Given the description of an element on the screen output the (x, y) to click on. 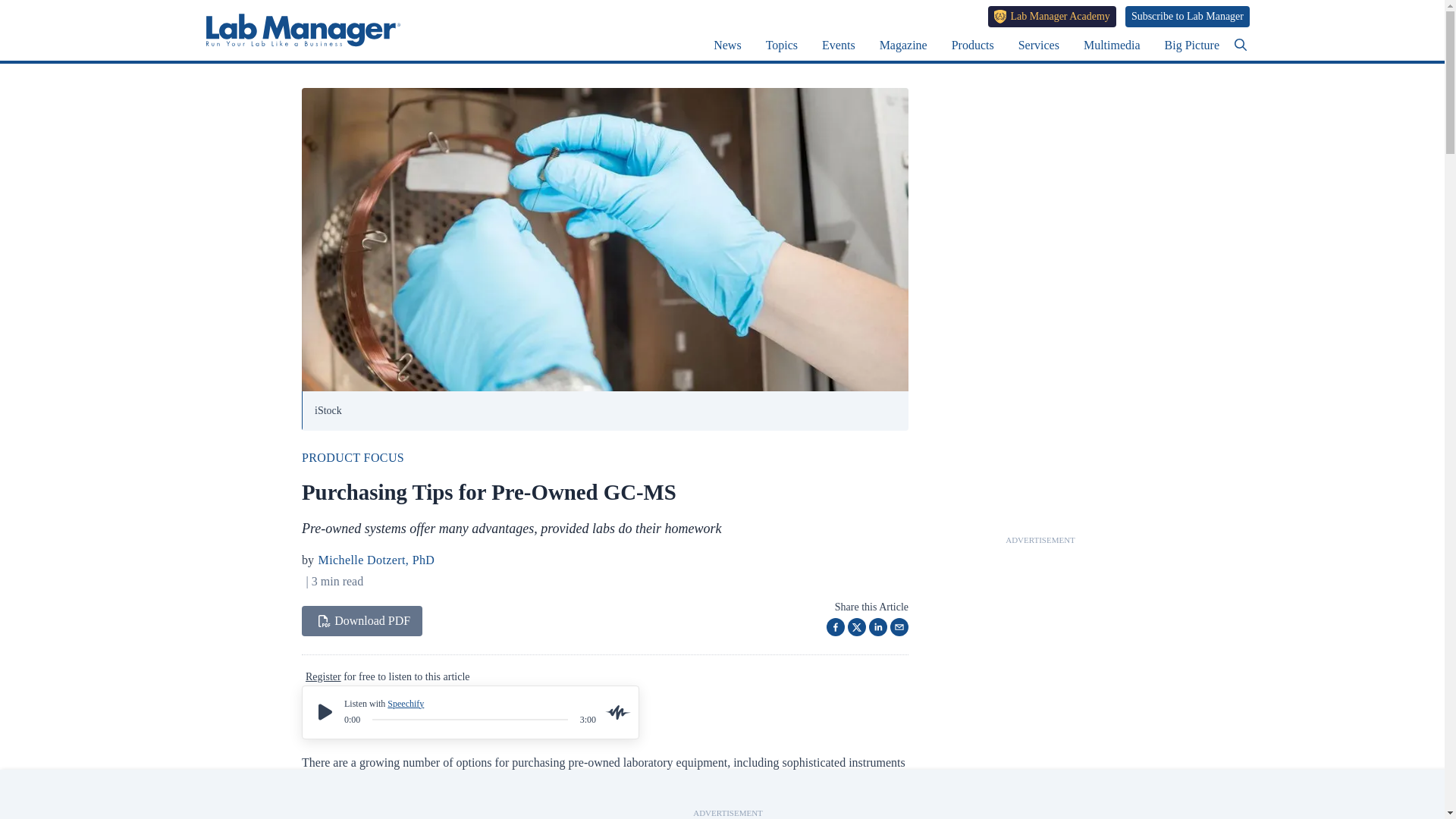
News (726, 45)
Lab Manager Academy (1052, 16)
Topics (781, 45)
Subscribe to Lab Manager (1187, 16)
